Given the description of an element on the screen output the (x, y) to click on. 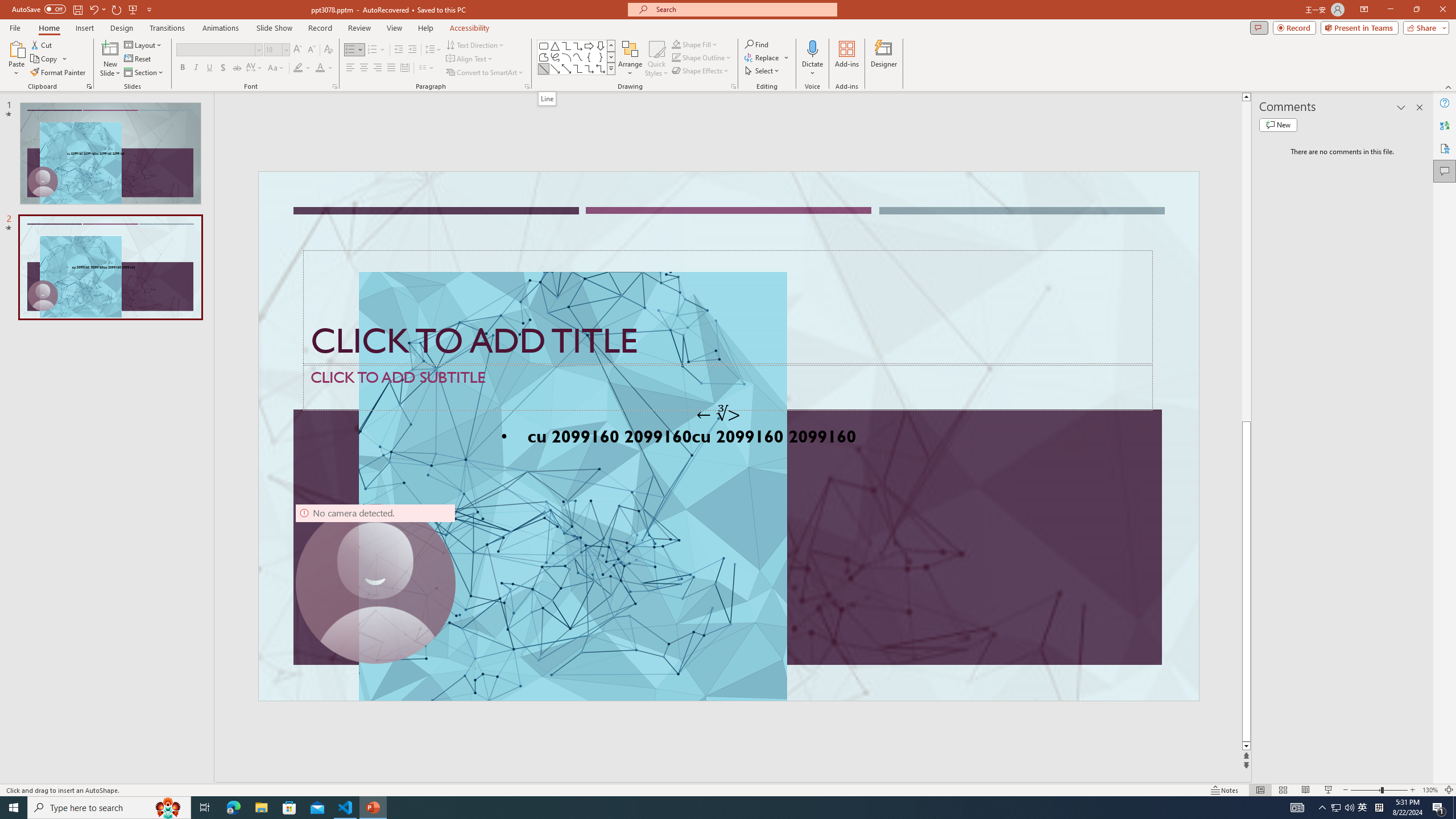
Run and Debug (Ctrl+Shift+D) (76, 353)
Edge (516, 46)
Class: ___1lmltc5 f1agt3bx f12qytpq (1348, 122)
Views and More Actions... (251, 182)
Output (Ctrl+Shift+U) (395, 533)
Ports - 26 forwarded ports (662, 533)
Application Menu (76, 183)
